Given the description of an element on the screen output the (x, y) to click on. 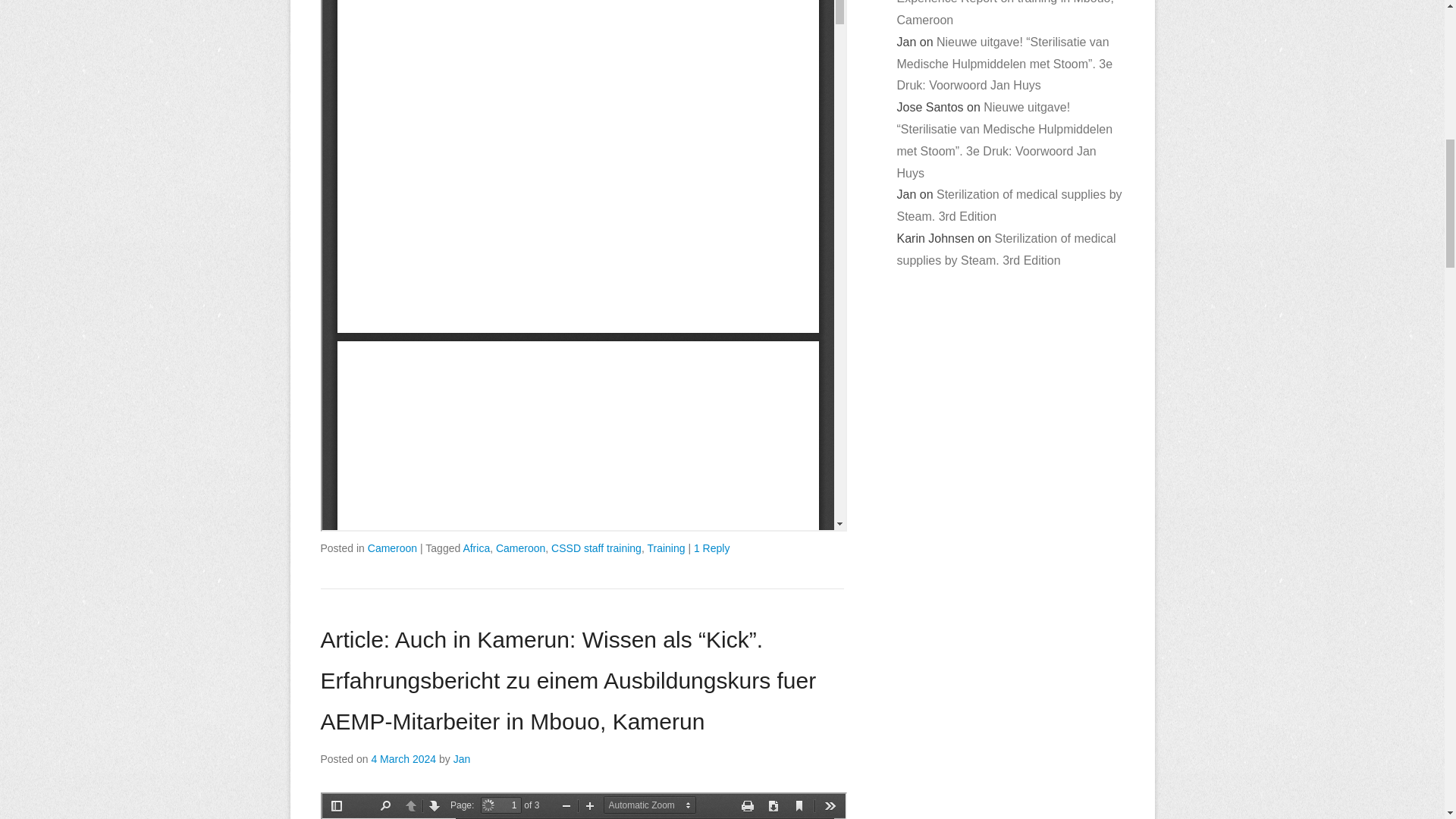
19:43 (403, 758)
Training (665, 548)
Cameroon (392, 548)
Cameroon (520, 548)
CSSD staff training (596, 548)
View all posts by Jan (461, 758)
Africa (476, 548)
